Given the description of an element on the screen output the (x, y) to click on. 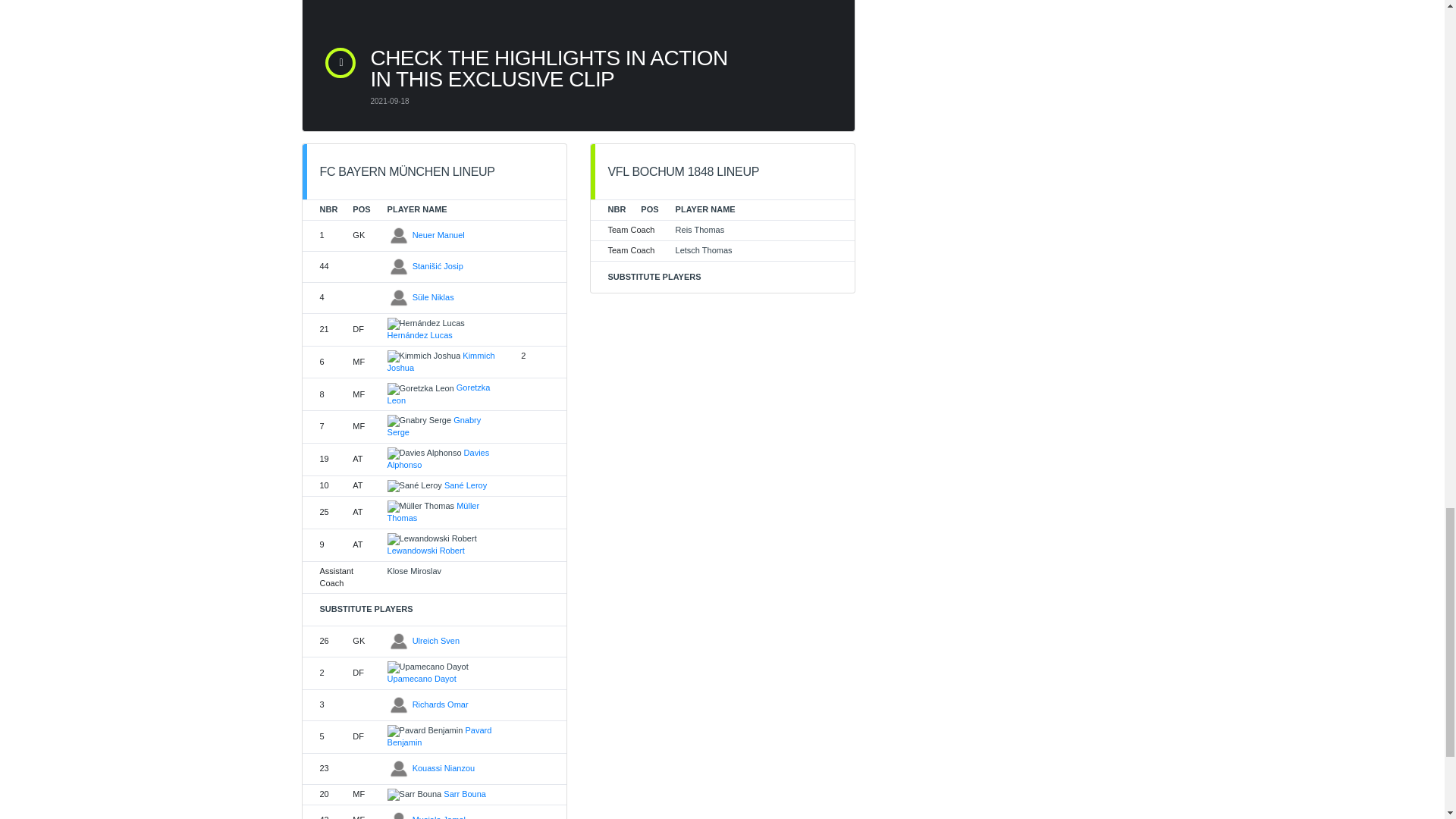
Kimmich Joshua (441, 361)
Neuer Manuel (438, 234)
Goretzka Leon (438, 393)
